Given the description of an element on the screen output the (x, y) to click on. 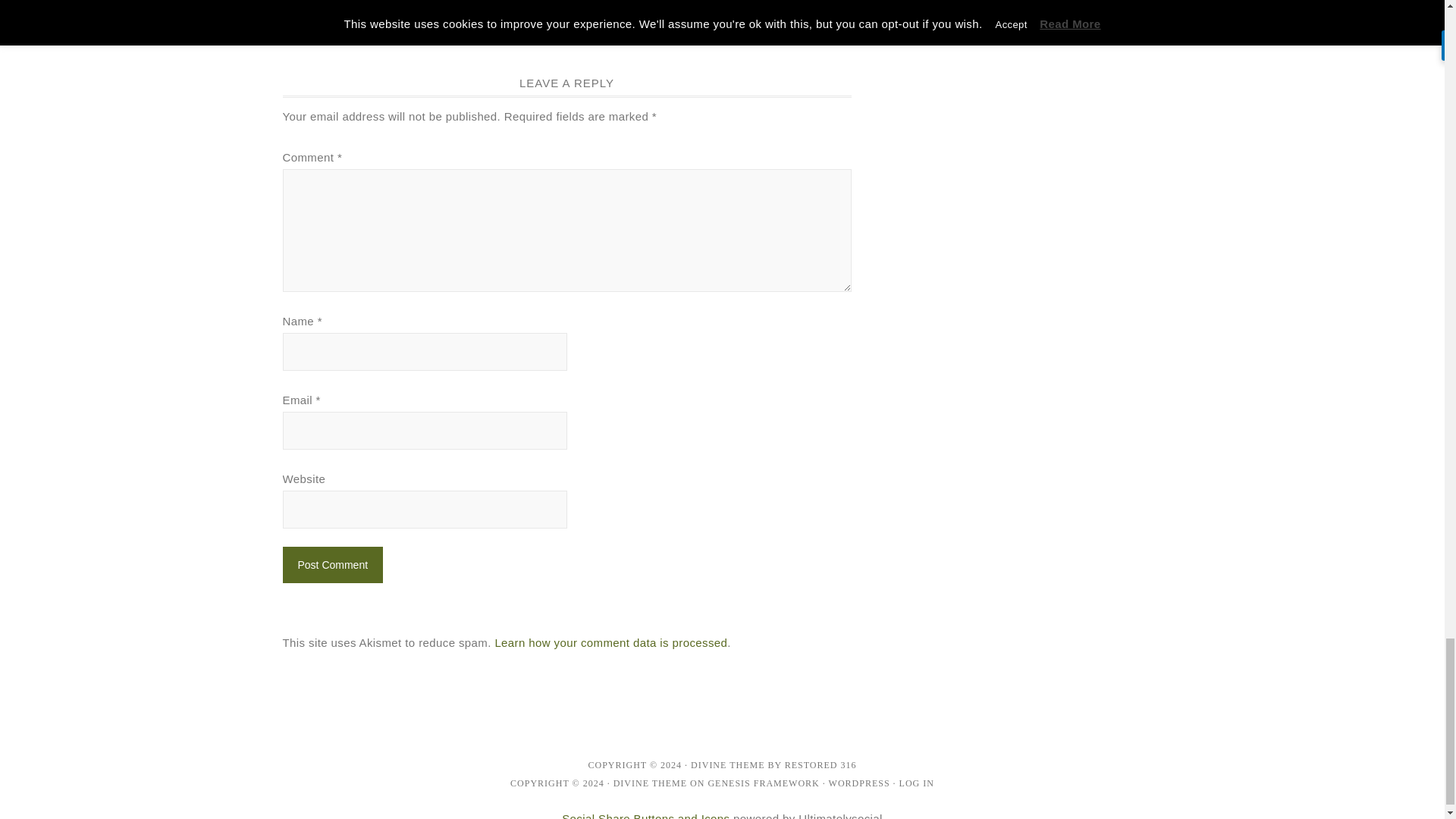
DIVINE THEME (727, 765)
GENESIS FRAMEWORK (762, 783)
DIVINE THEME (649, 783)
WORDPRESS (858, 783)
RESTORED 316 (820, 765)
Learn how your comment data is processed (610, 642)
Post Comment (332, 565)
LOG IN (916, 783)
Post Comment (332, 565)
